Given the description of an element on the screen output the (x, y) to click on. 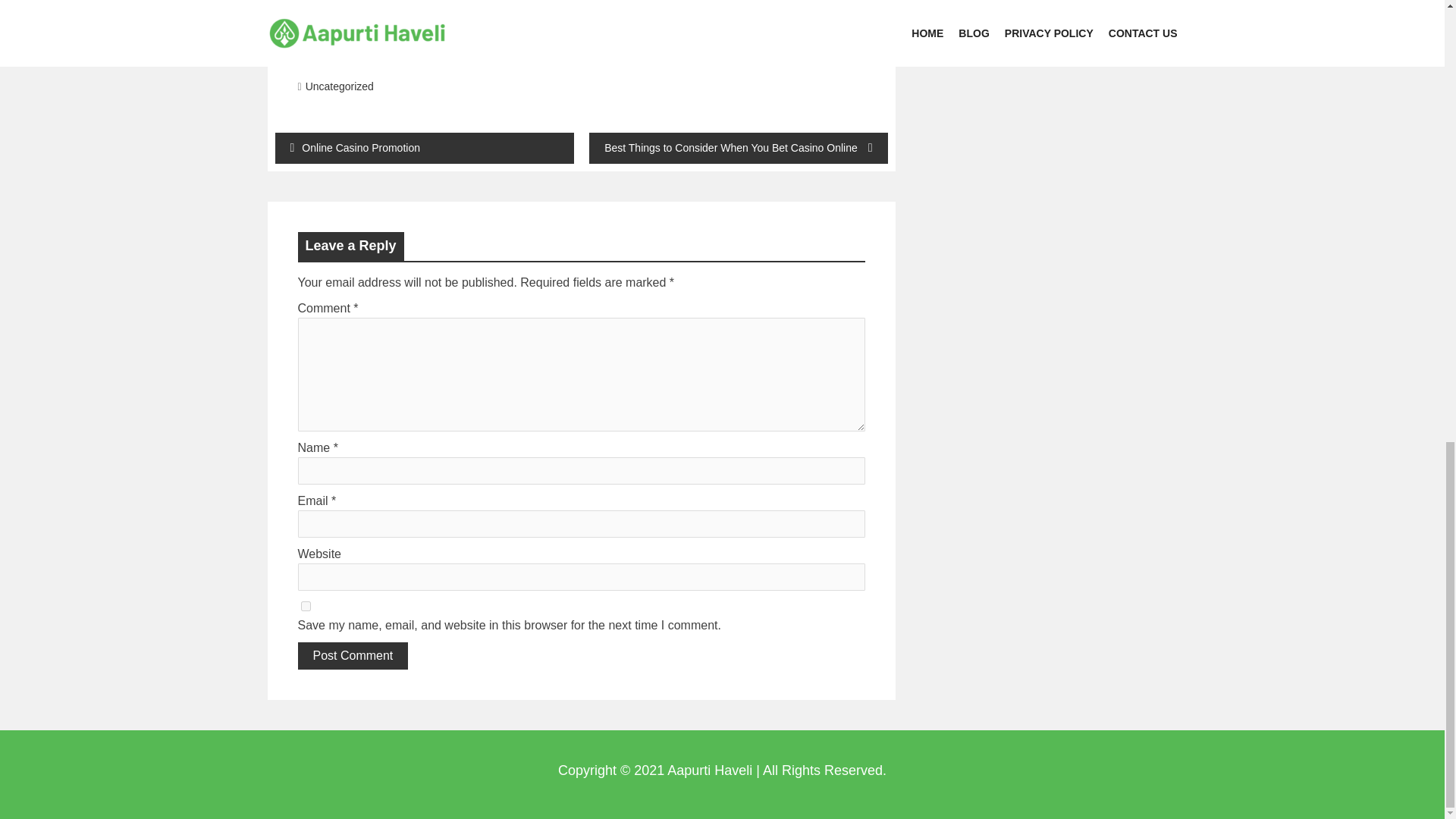
Best Things to Consider When You Bet Casino Online  (737, 147)
Online Casino Promotion (424, 147)
yes (304, 605)
Post Comment (352, 655)
Uncategorized (339, 86)
Post Comment (352, 655)
